Given the description of an element on the screen output the (x, y) to click on. 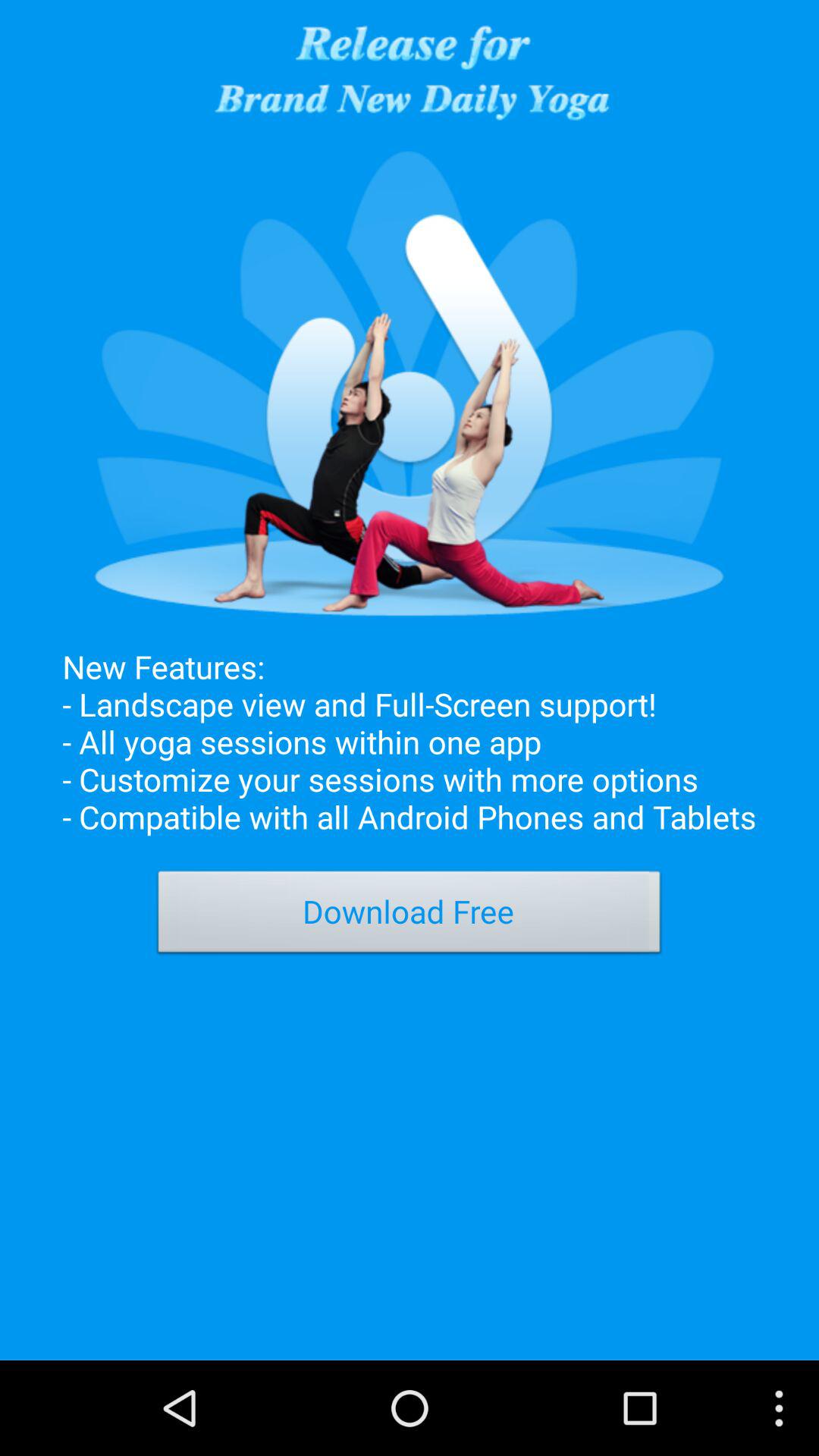
scroll until download free (409, 916)
